Given the description of an element on the screen output the (x, y) to click on. 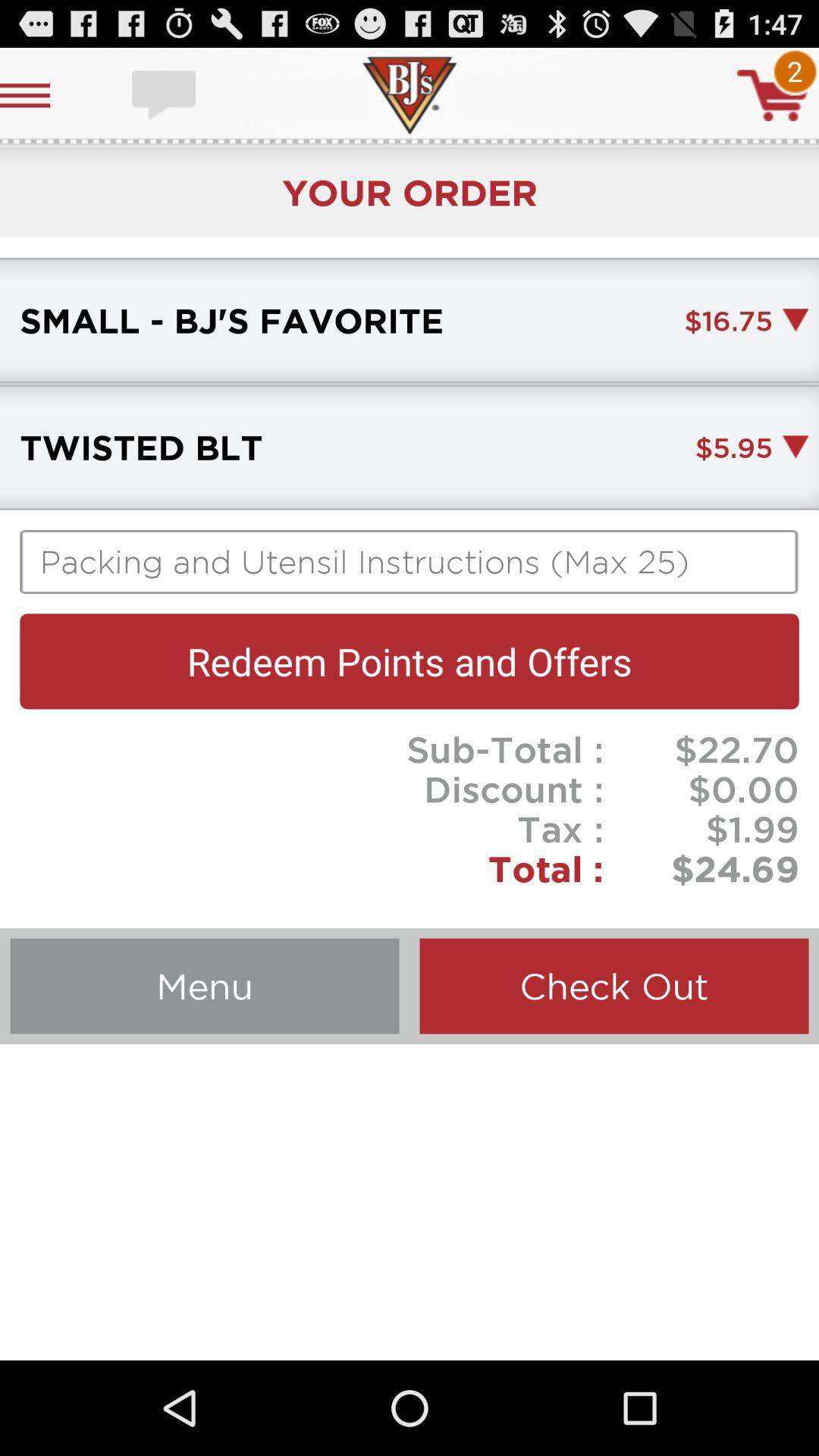
open cart (772, 95)
